Given the description of an element on the screen output the (x, y) to click on. 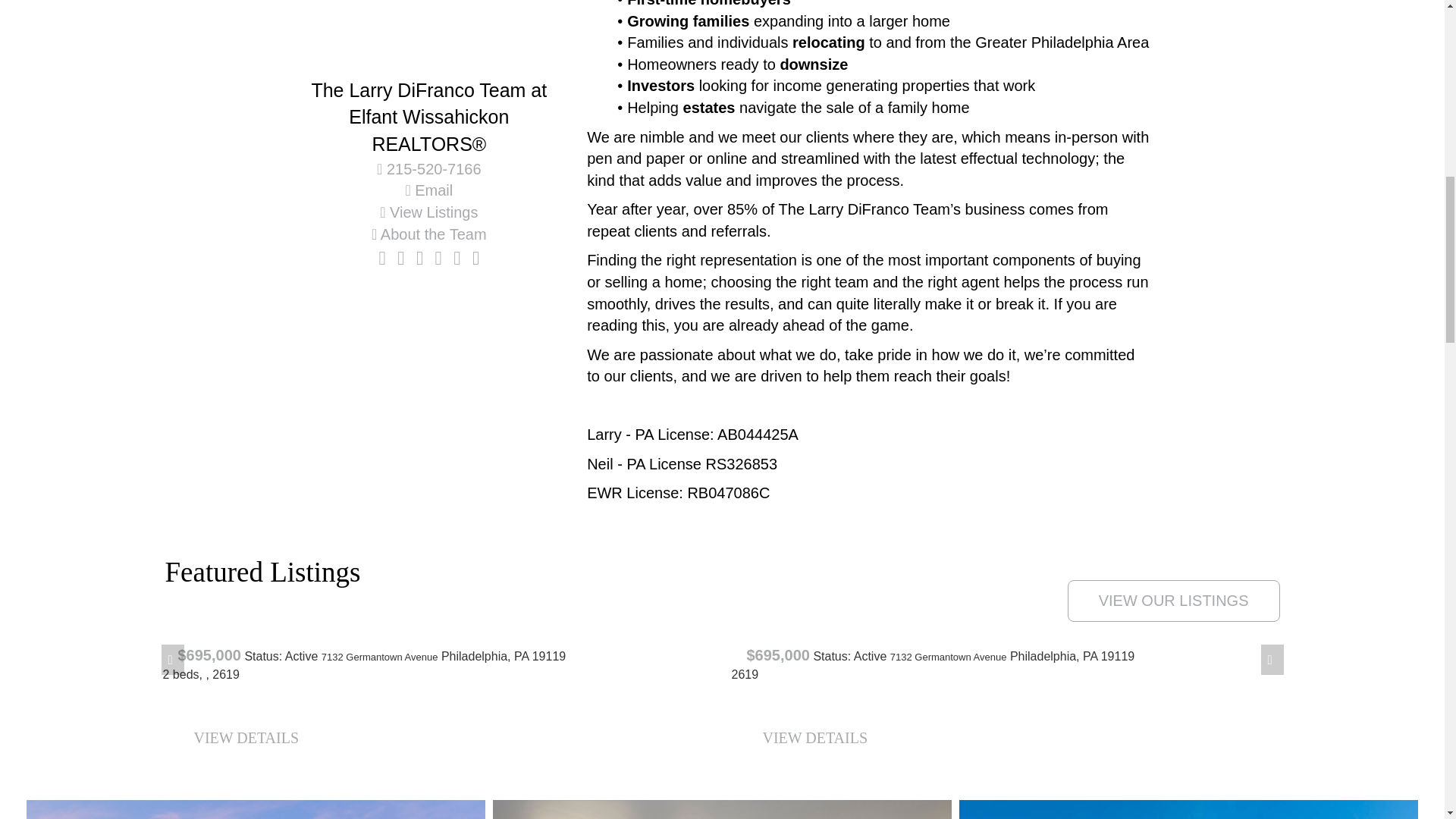
About the Team (428, 234)
View Listings (428, 211)
Email (428, 190)
215-520-7166 (428, 168)
